Given the description of an element on the screen output the (x, y) to click on. 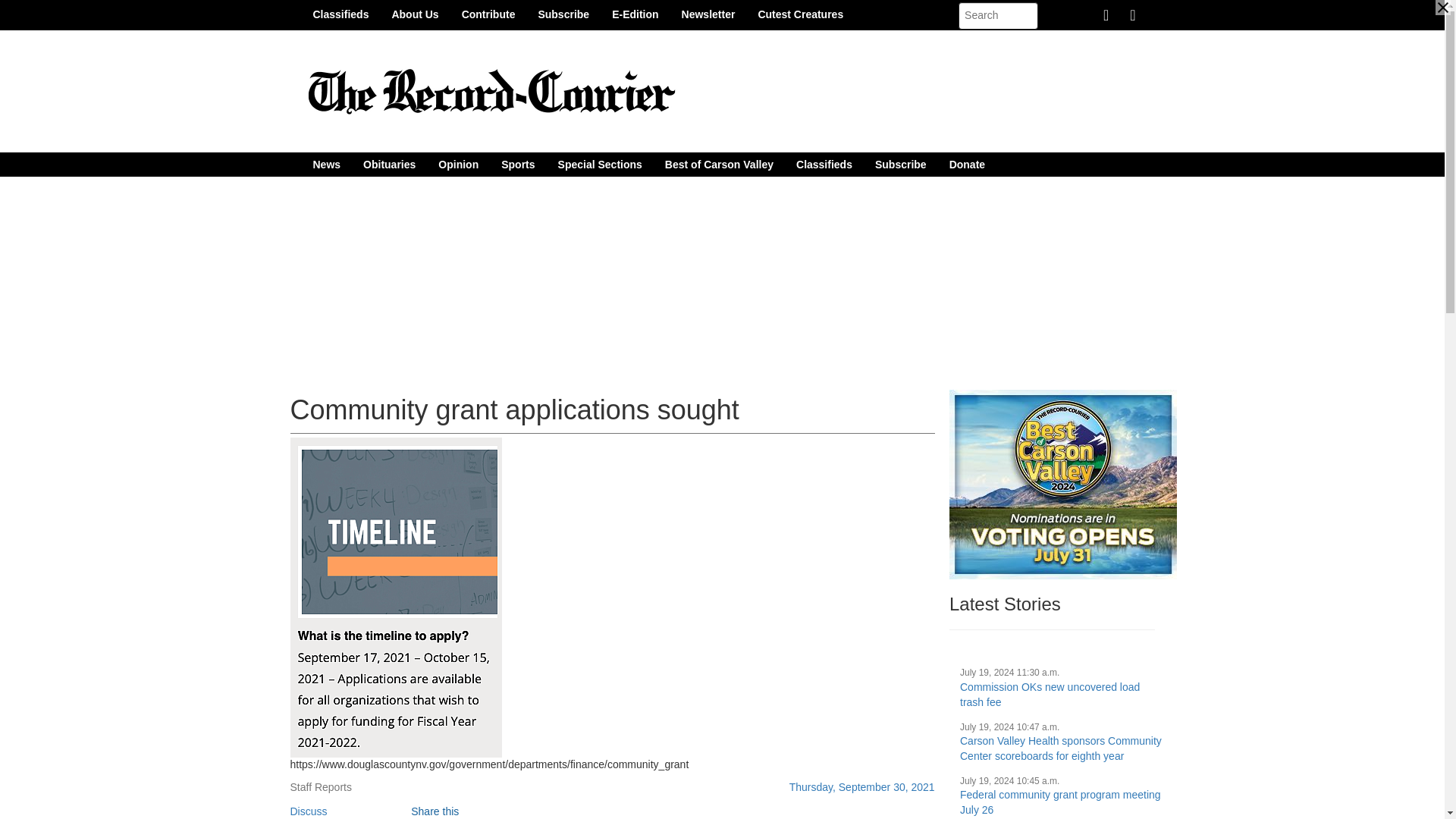
News (326, 164)
Contribute (488, 14)
Best of Carson Valley (718, 164)
Newsletter (707, 14)
Cutest Creatures (799, 14)
E-Edition (634, 14)
About Us (414, 14)
Classifieds (823, 164)
Obituaries (389, 164)
Sports (517, 164)
Classifieds (340, 14)
Special Sections (600, 164)
Subscribe (900, 164)
Opinion (457, 164)
Subscribe (562, 14)
